Given the description of an element on the screen output the (x, y) to click on. 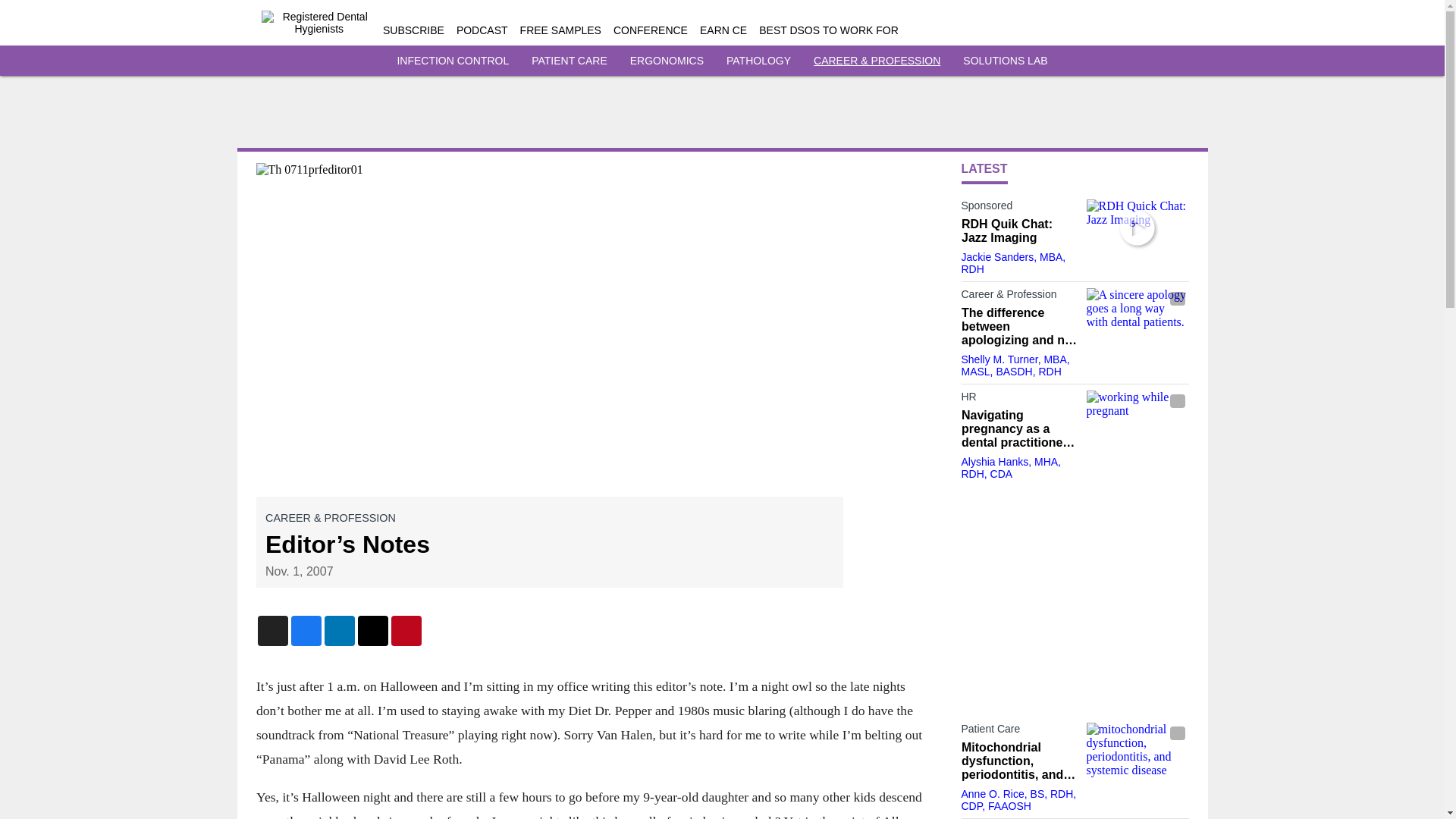
Navigating pregnancy as a dental practitioner: Part 1 (1019, 428)
A sincere apology goes a long way with dental patients. (1137, 316)
ERGONOMICS (666, 60)
HR (1019, 399)
PODCAST (482, 30)
Anne O. Rice, BS, RDH, CDP, FAAOSH (1018, 799)
Alyshia Hanks, MHA, RDH, CDA (1010, 467)
